Given the description of an element on the screen output the (x, y) to click on. 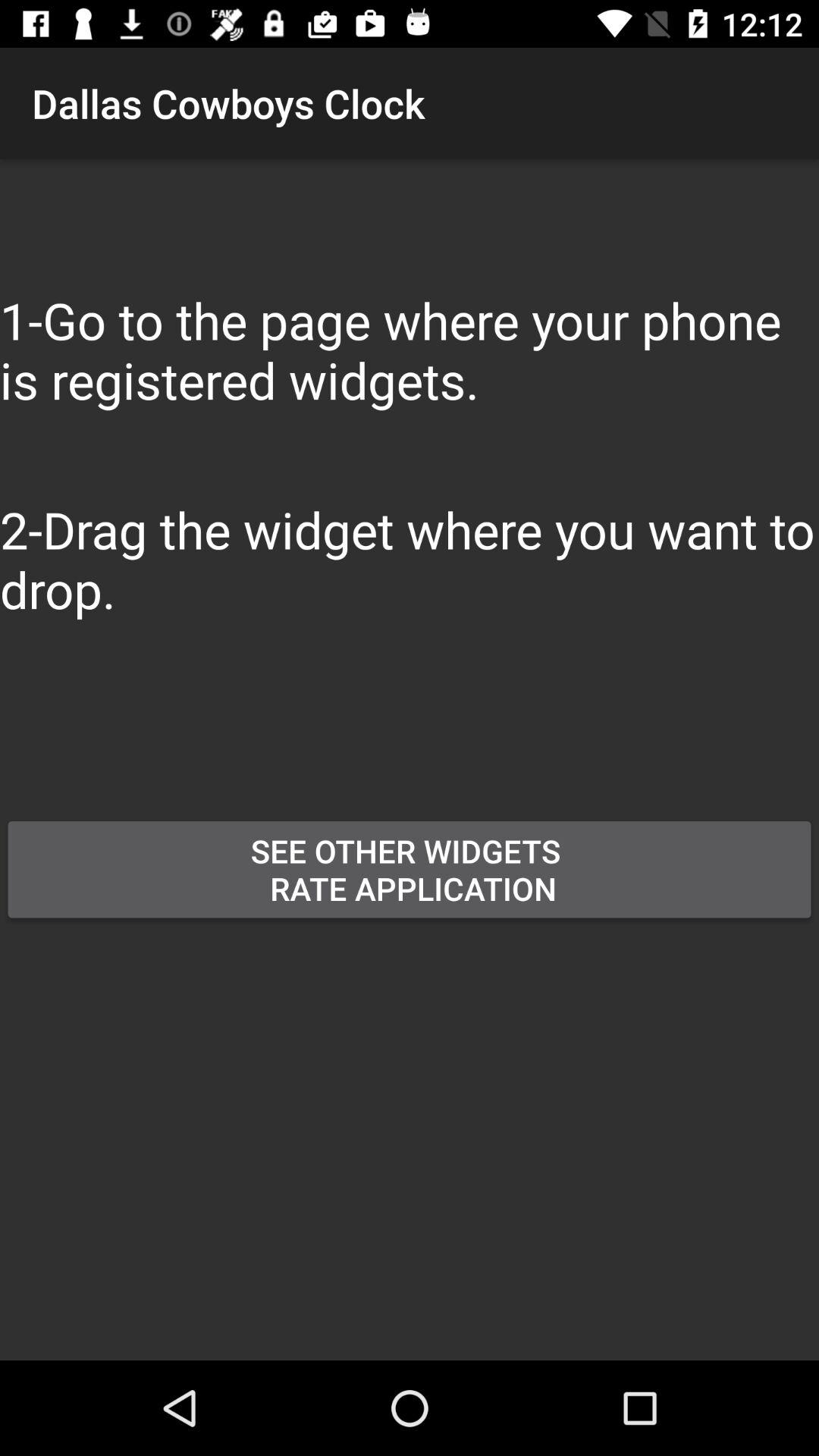
swipe until see other widgets (409, 869)
